Given the description of an element on the screen output the (x, y) to click on. 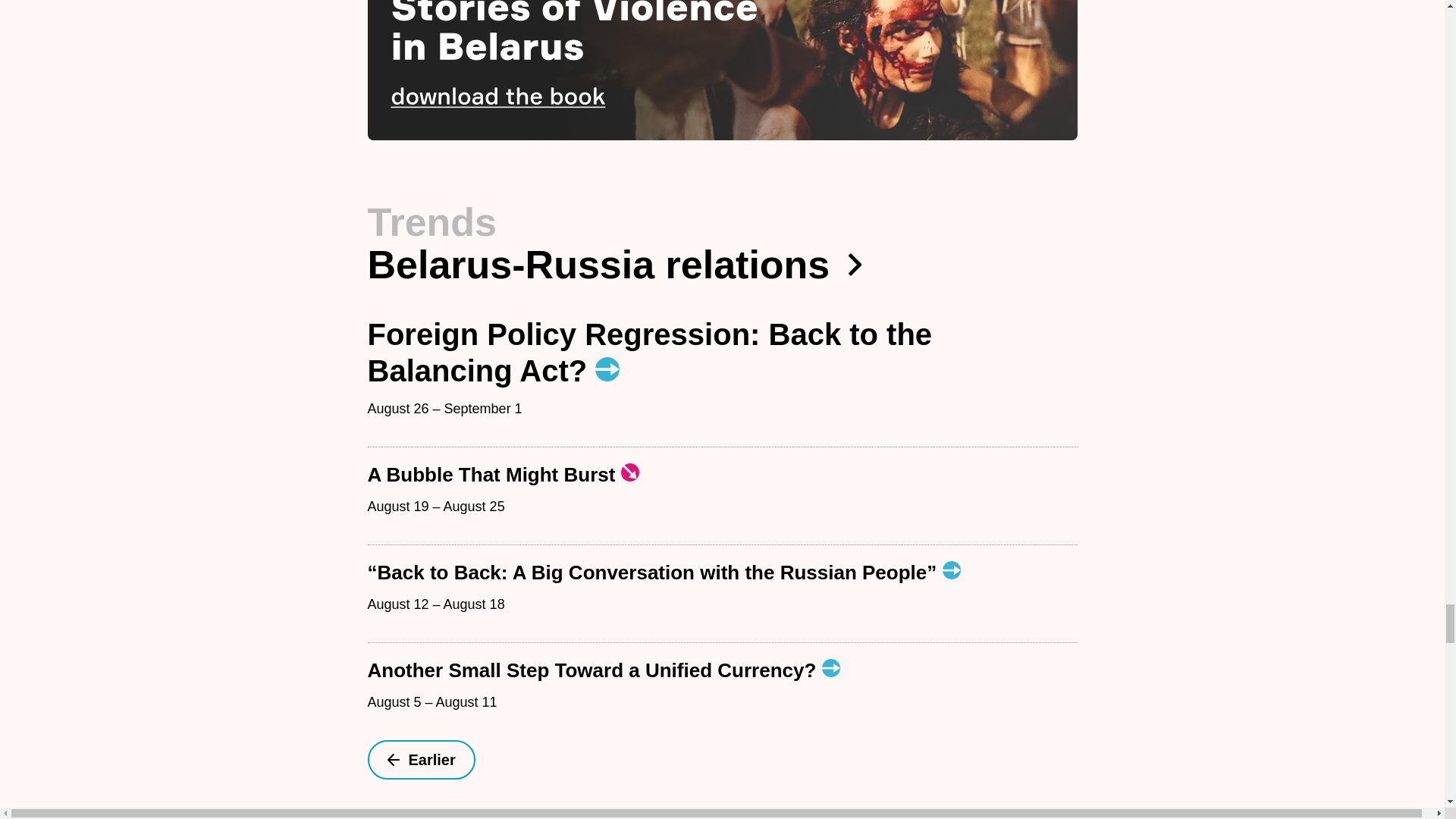
Trends (431, 221)
Earlier (420, 759)
Belarus-Russia relations (721, 264)
